Given the description of an element on the screen output the (x, y) to click on. 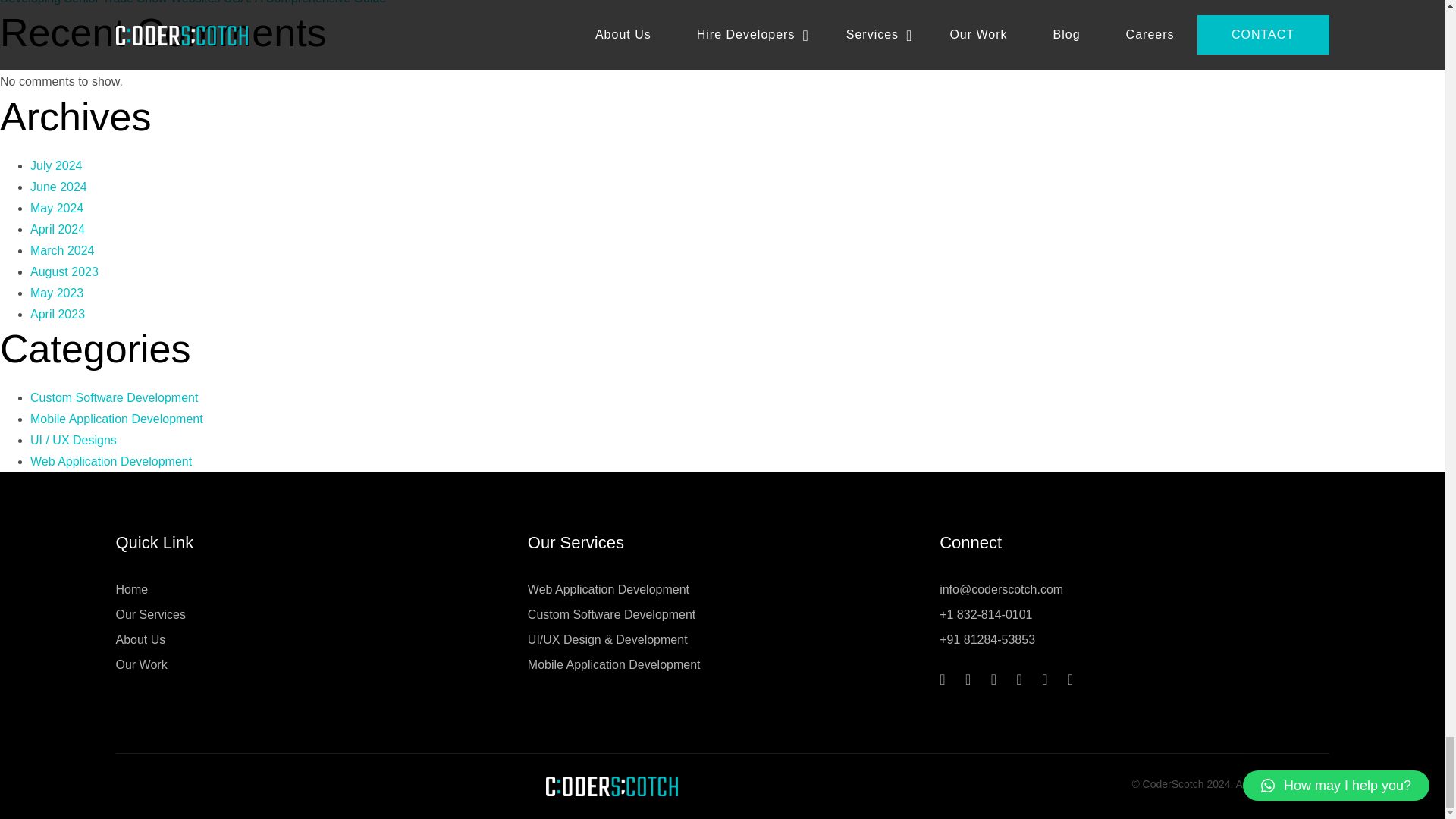
Our Services (149, 614)
Home (131, 589)
Web Application Development (607, 589)
Our Work (141, 664)
About Us (140, 639)
Mobile Application Development (613, 664)
Custom Software Development (611, 614)
